Given the description of an element on the screen output the (x, y) to click on. 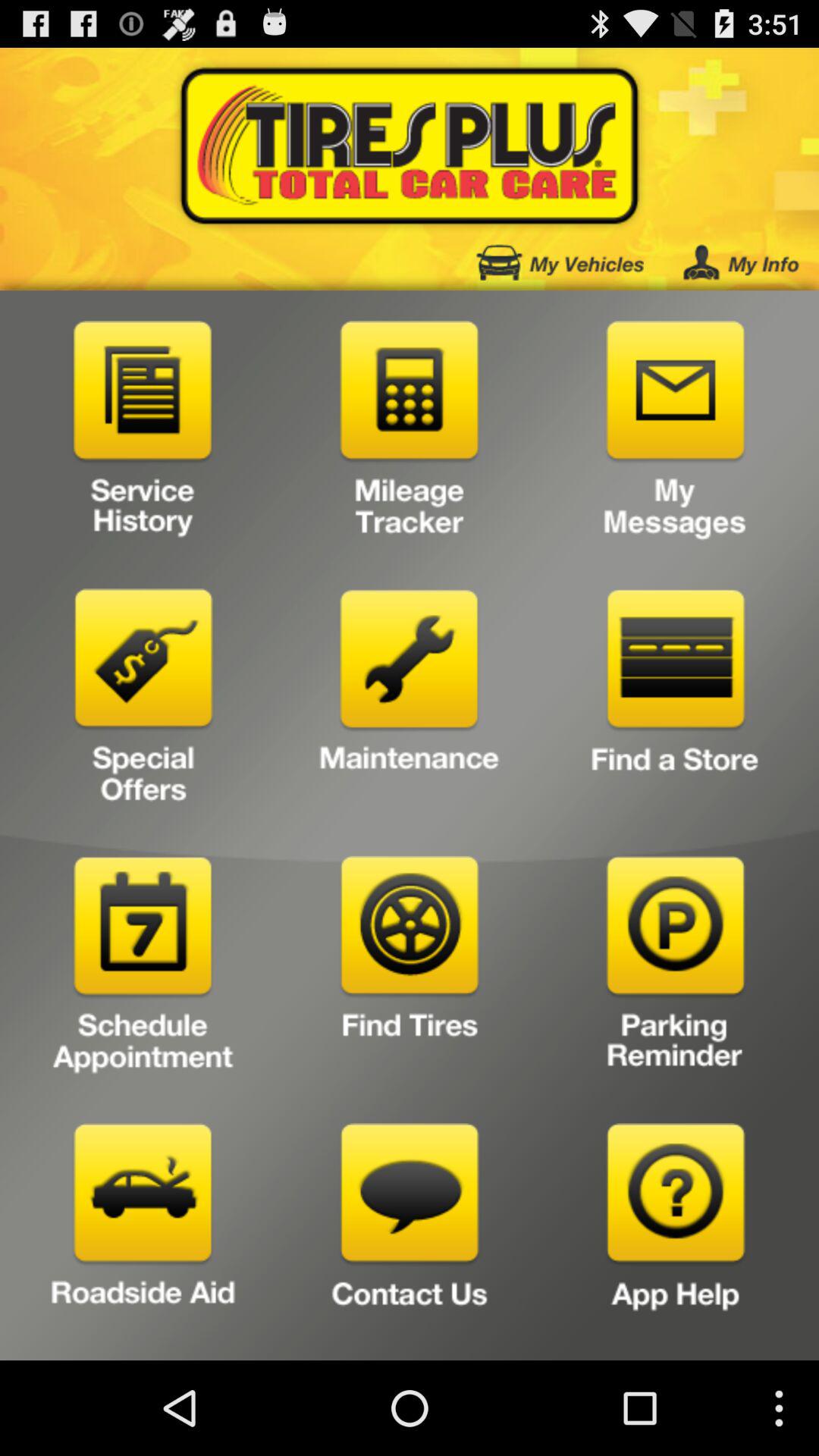
find the tires (409, 968)
